Given the description of an element on the screen output the (x, y) to click on. 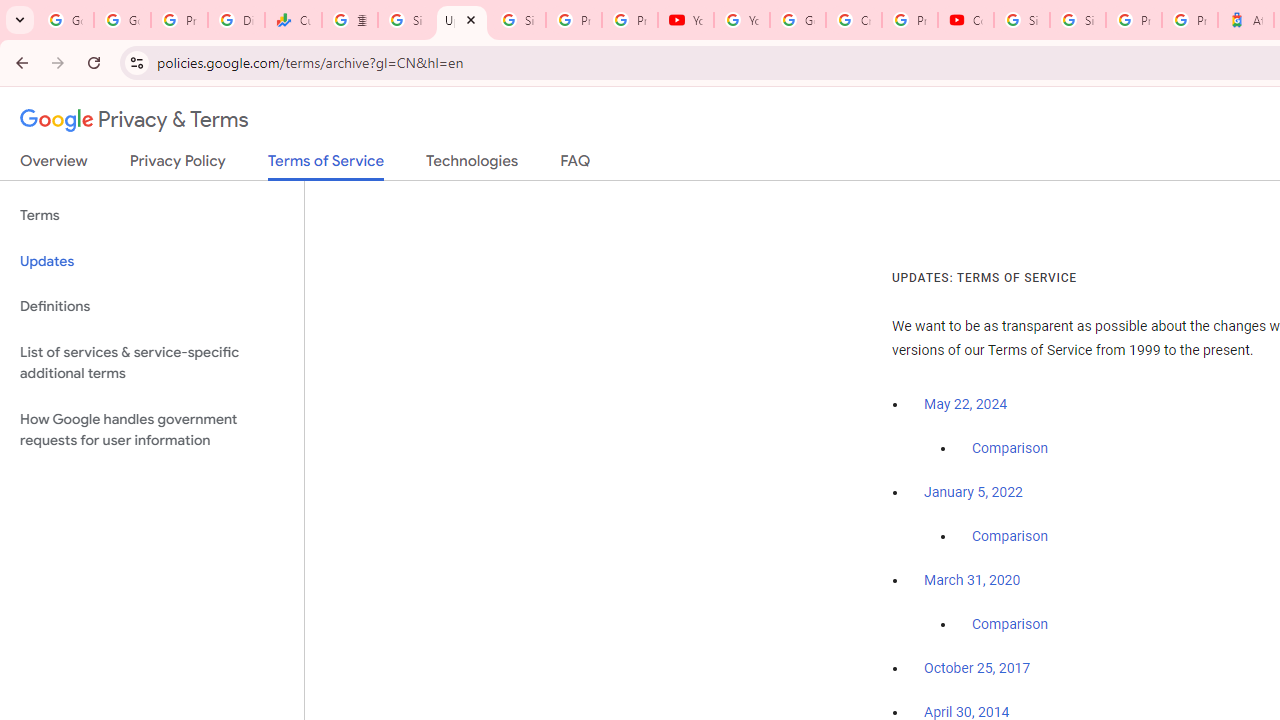
January 5, 2022 (973, 492)
Sign in - Google Accounts (405, 20)
Currencies - Google Finance (293, 20)
Create your Google Account (853, 20)
